Given the description of an element on the screen output the (x, y) to click on. 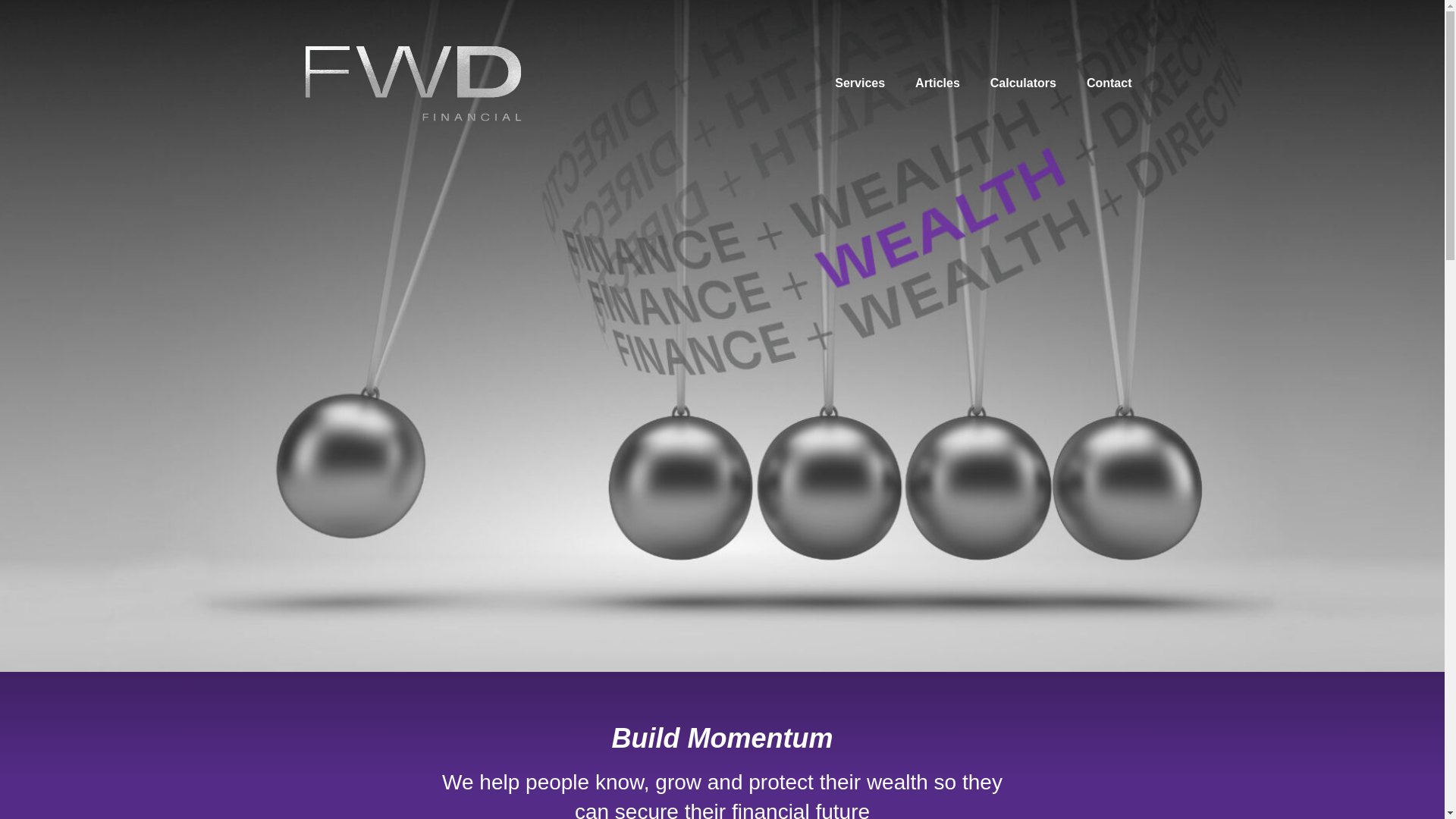
Services Element type: text (859, 83)
Calculators Element type: text (1023, 83)
Articles Element type: text (937, 83)
Contact Element type: text (1109, 83)
